Given the description of an element on the screen output the (x, y) to click on. 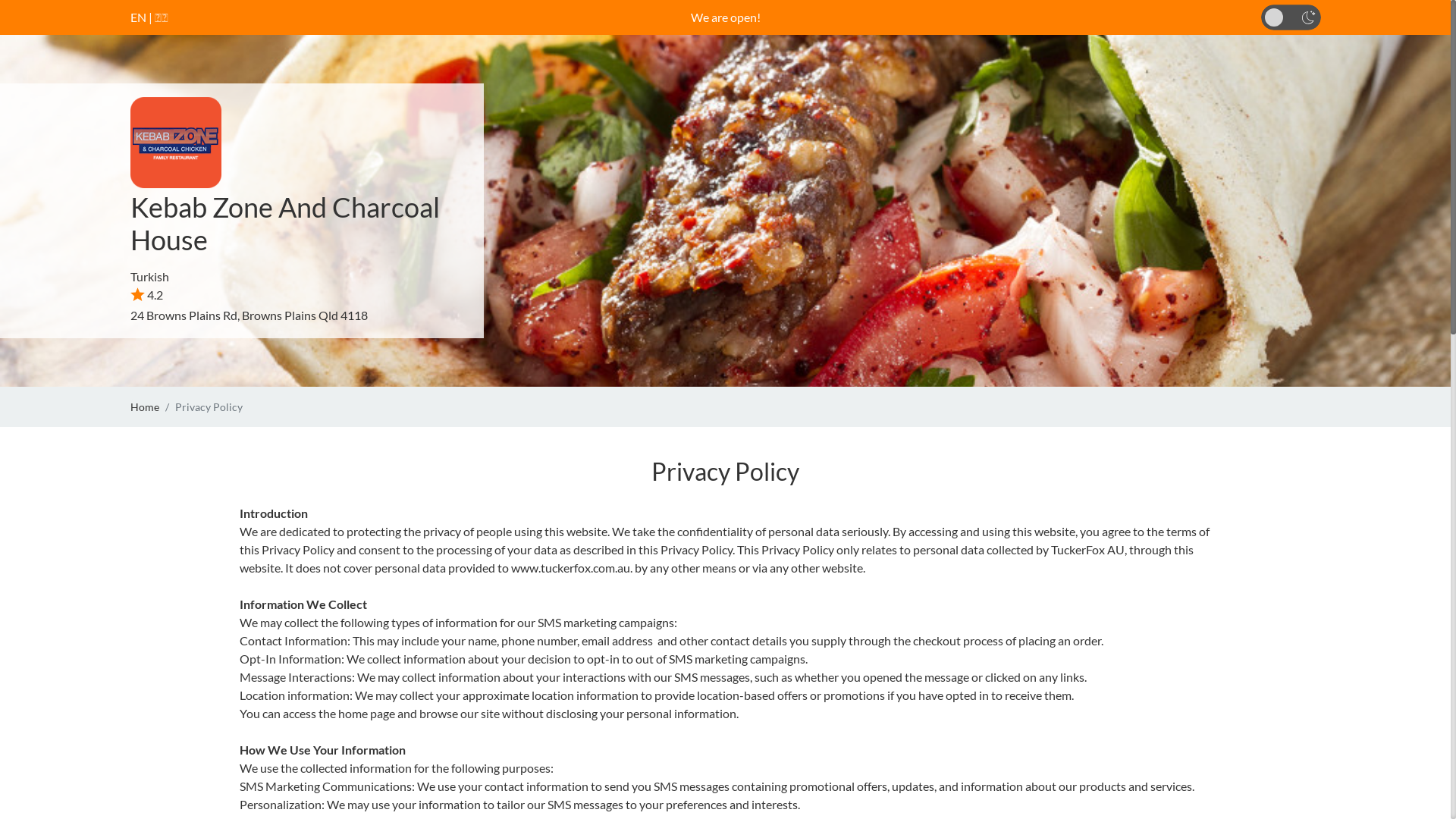
Kebab Zone And Charcoal House Element type: text (284, 223)
Home Element type: text (144, 406)
4.2 Element type: text (146, 294)
EN Element type: text (138, 16)
